Given the description of an element on the screen output the (x, y) to click on. 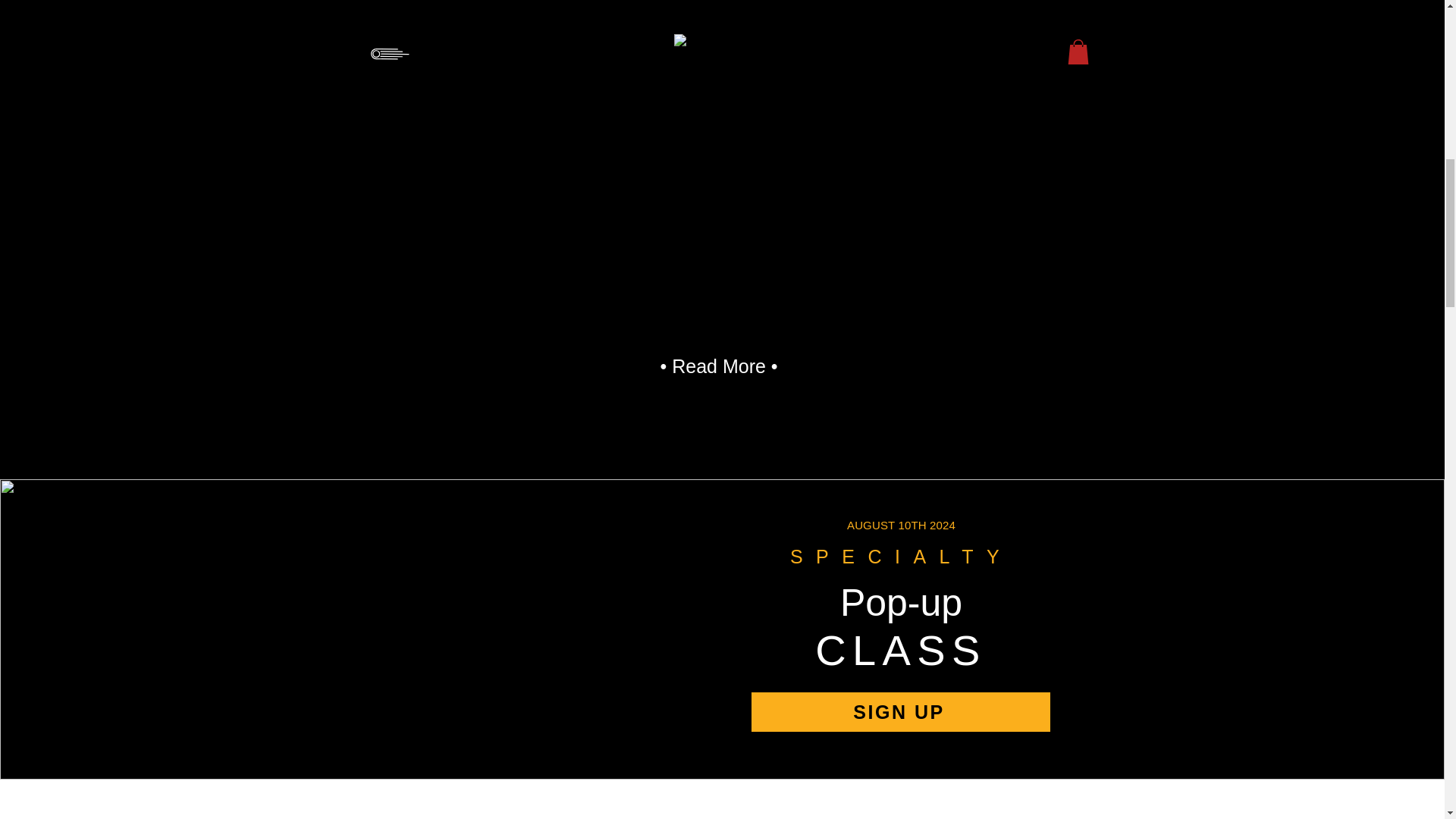
SIGN UP (900, 712)
